Given the description of an element on the screen output the (x, y) to click on. 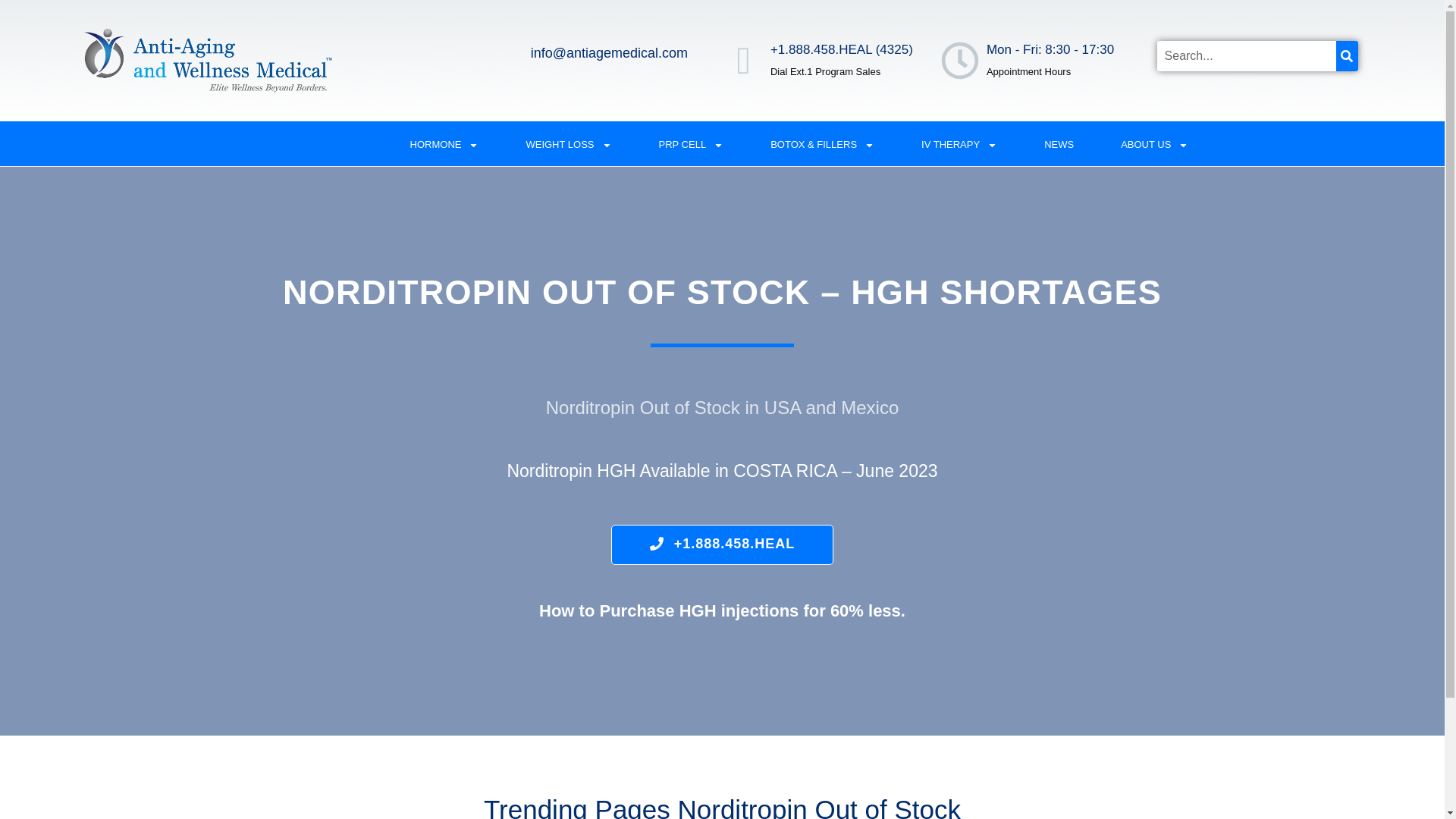
WEIGHT LOSS (568, 144)
PRP CELL (691, 144)
NEWS (1058, 144)
HORMONE (444, 144)
ABOUT US (1154, 144)
IV THERAPY (959, 144)
